Given the description of an element on the screen output the (x, y) to click on. 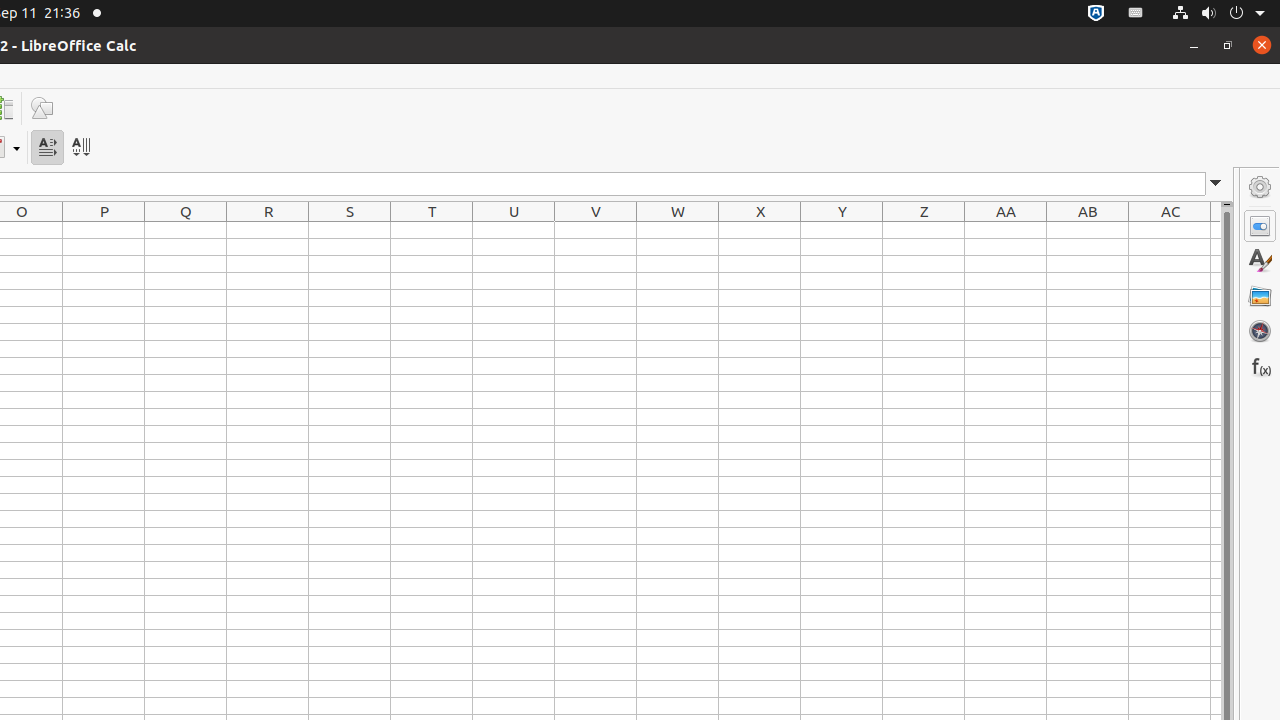
AC1 Element type: table-cell (1170, 230)
Y1 Element type: table-cell (842, 230)
Z1 Element type: table-cell (924, 230)
Gallery Element type: radio-button (1260, 296)
Functions Element type: radio-button (1260, 366)
